Given the description of an element on the screen output the (x, y) to click on. 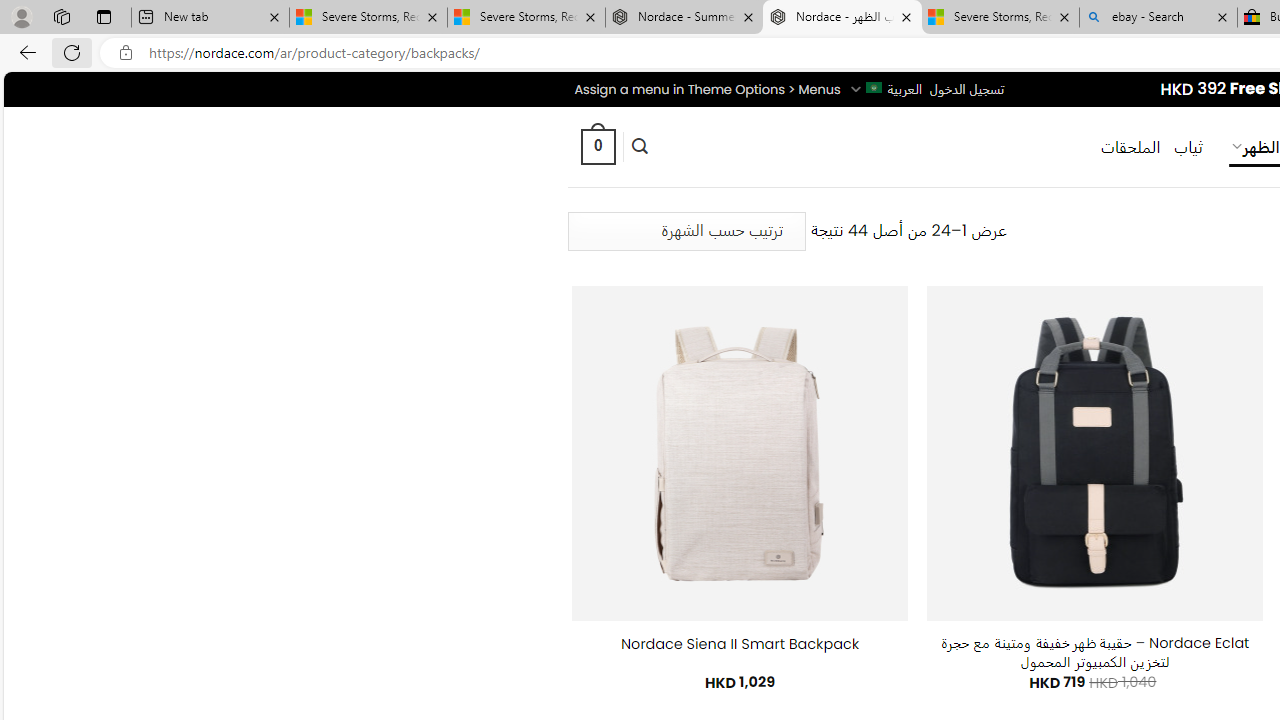
Assign a menu in Theme Options > Menus (706, 89)
  0   (597, 146)
Assign a menu in Theme Options > Menus (706, 89)
